Given the description of an element on the screen output the (x, y) to click on. 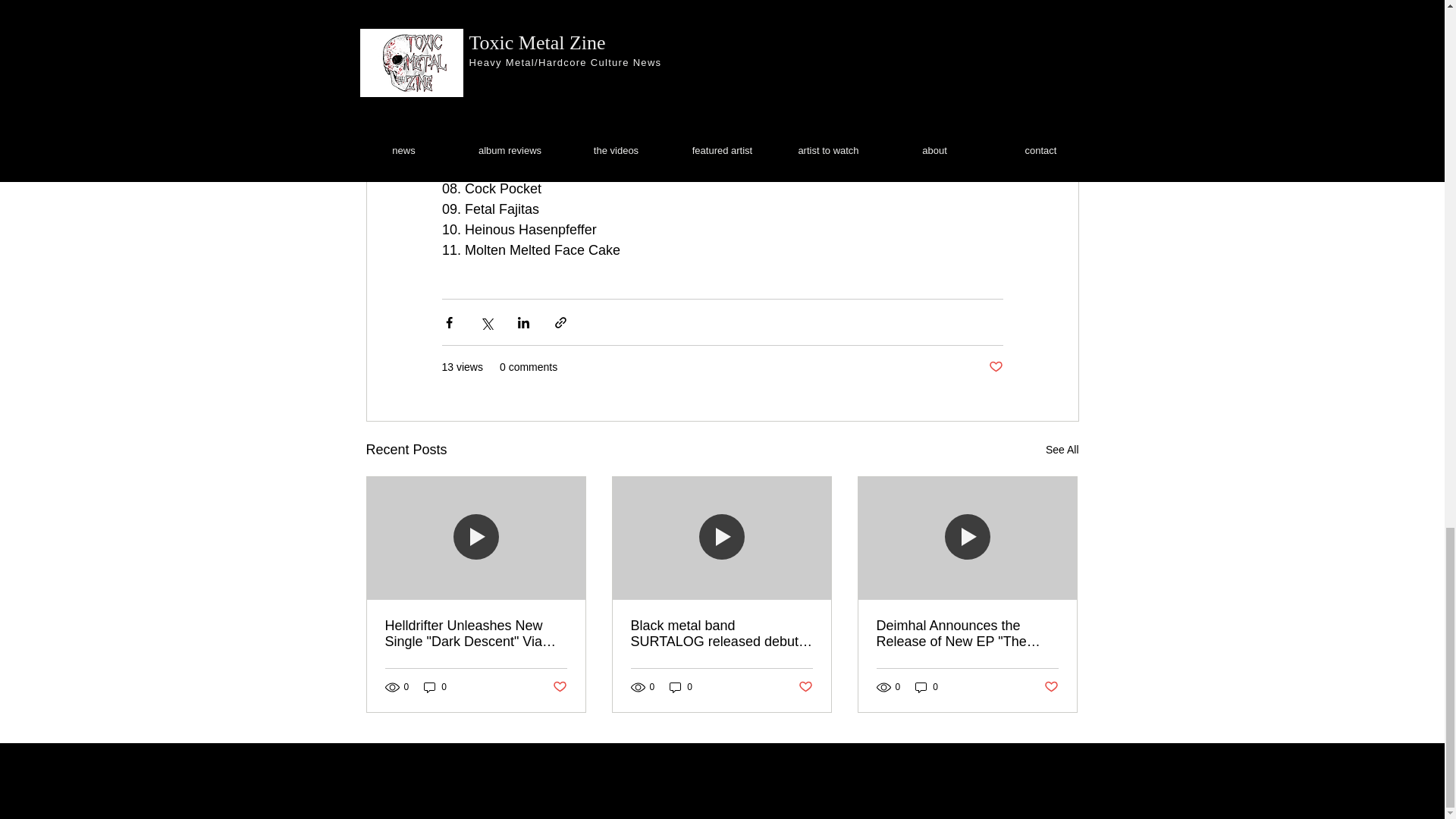
Post not marked as liked (1050, 687)
0 (681, 687)
Post not marked as liked (995, 367)
See All (1061, 449)
0 (926, 687)
Post not marked as liked (558, 687)
0 (435, 687)
Post not marked as liked (804, 687)
